Given the description of an element on the screen output the (x, y) to click on. 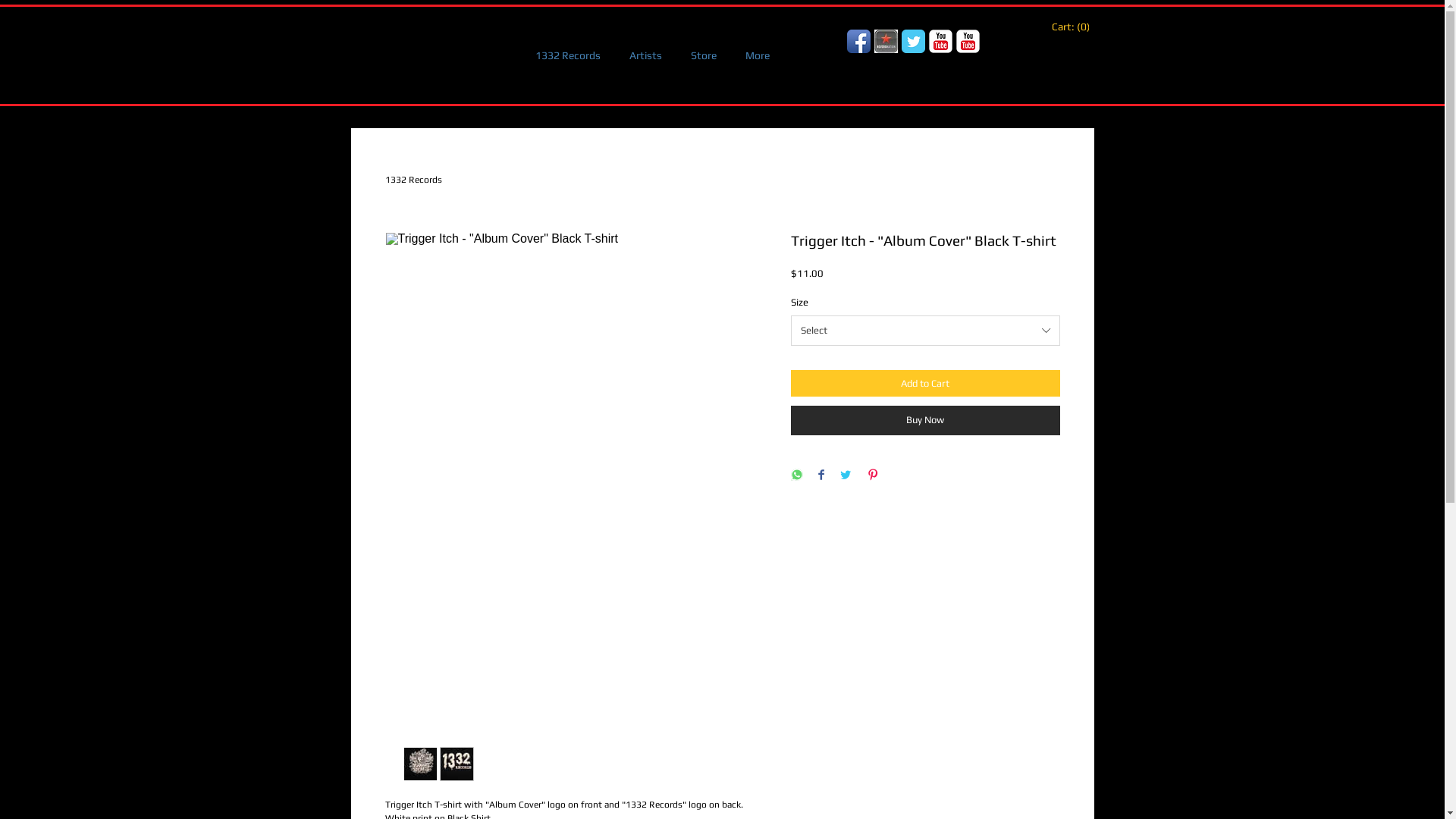
1332 Records Element type: text (567, 55)
Buy Now Element type: text (924, 419)
Cart: (0) Element type: text (1069, 26)
Store Element type: text (703, 55)
1332 Records Element type: text (413, 179)
Select Element type: text (924, 330)
Add to Cart Element type: text (924, 383)
Artists Element type: text (644, 55)
